Given the description of an element on the screen output the (x, y) to click on. 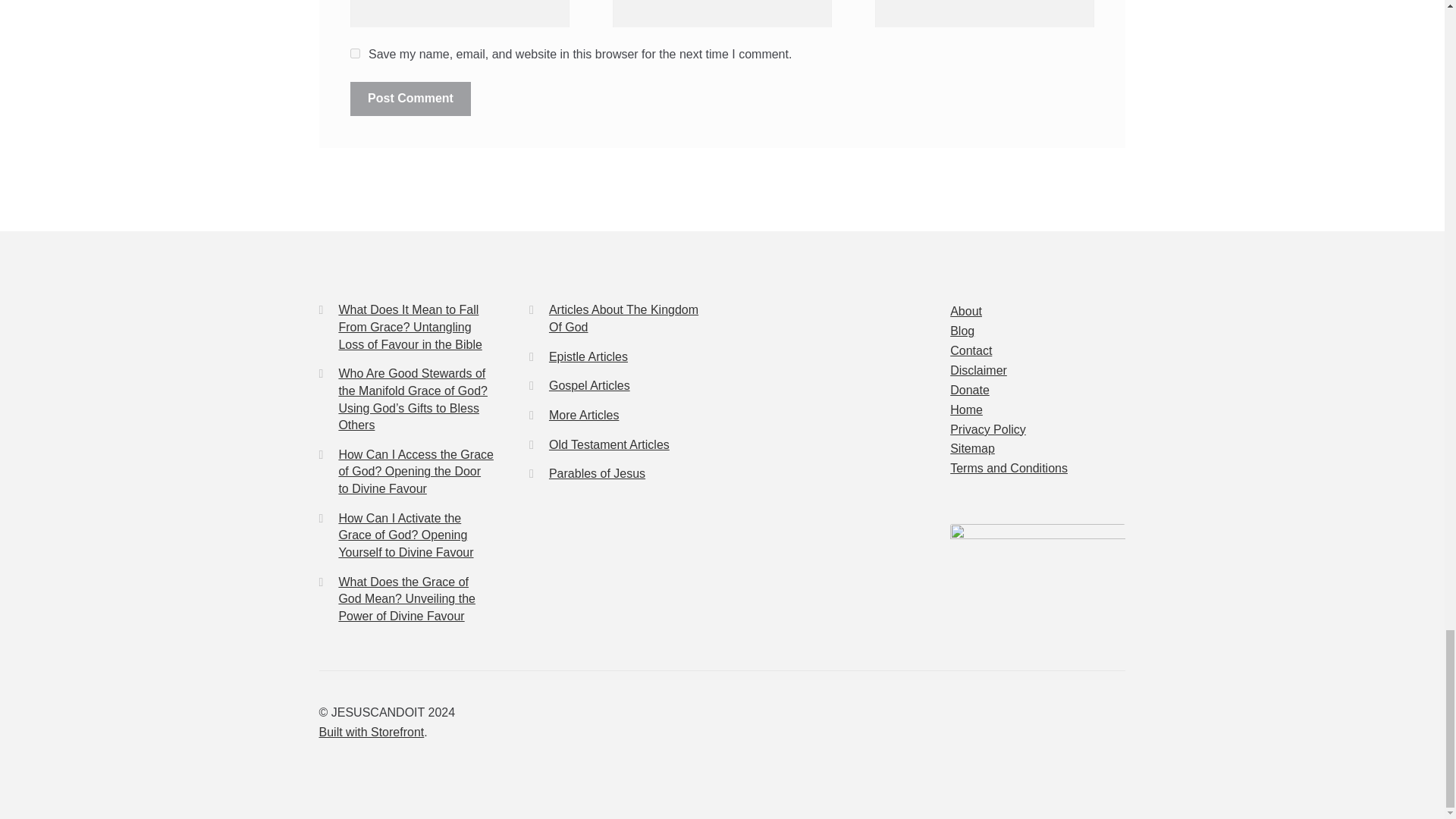
Post Comment (410, 99)
Post Comment (410, 99)
yes (354, 53)
